Given the description of an element on the screen output the (x, y) to click on. 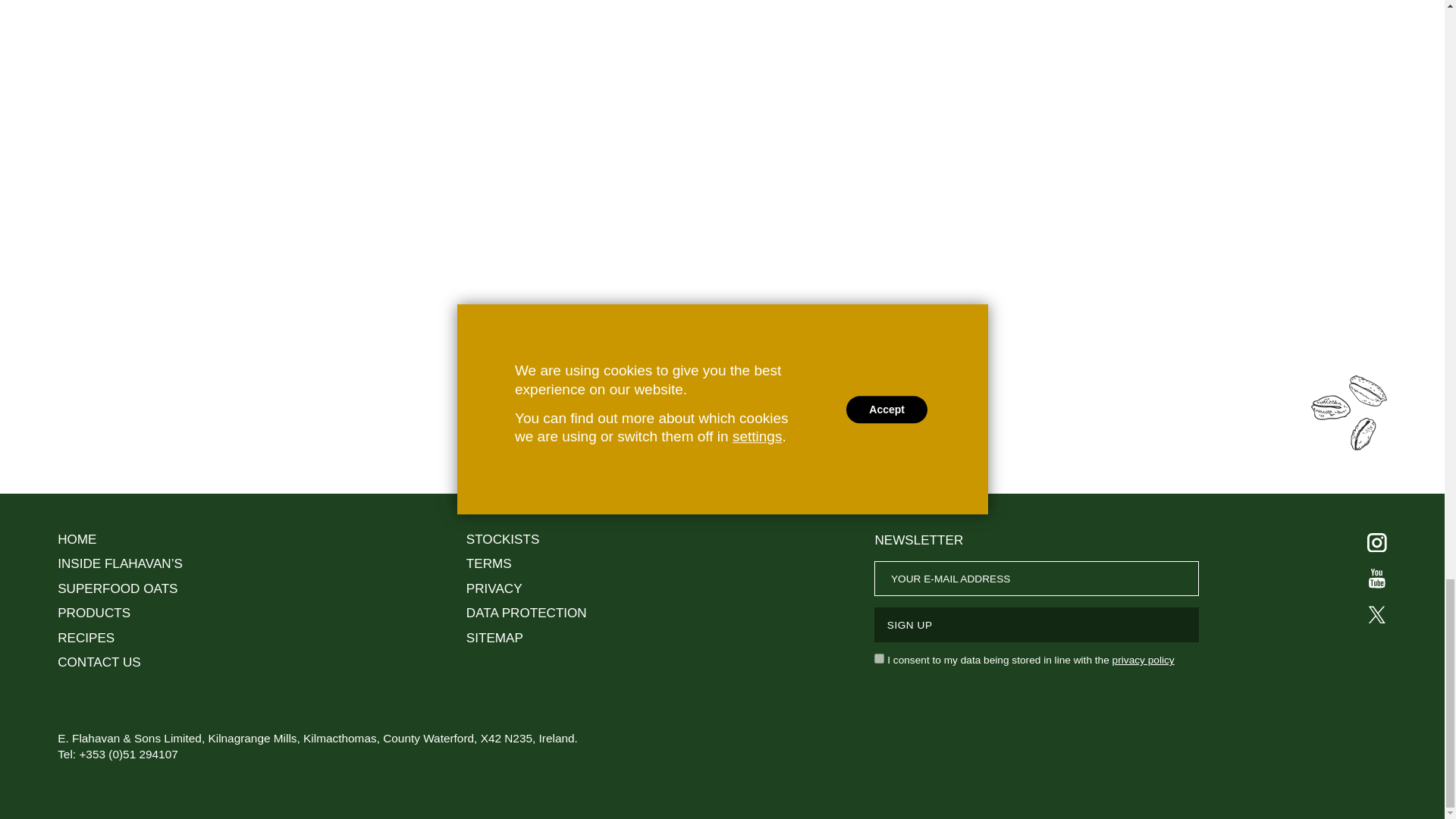
Twitter (1376, 614)
on (879, 658)
YouTube (1376, 578)
Sign Up (1036, 624)
Instagram (1376, 542)
